Given the description of an element on the screen output the (x, y) to click on. 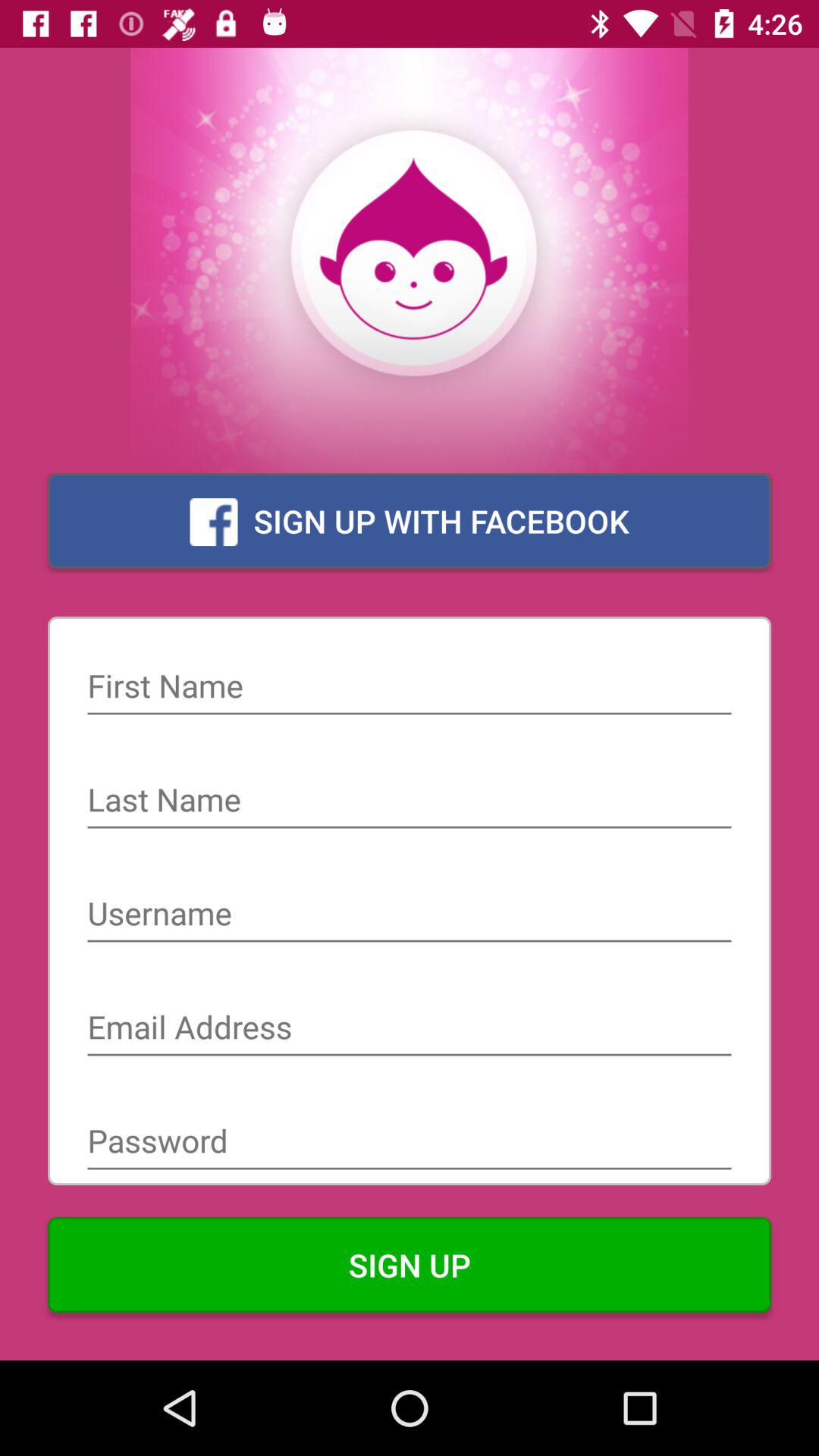
enter password field (409, 1142)
